Given the description of an element on the screen output the (x, y) to click on. 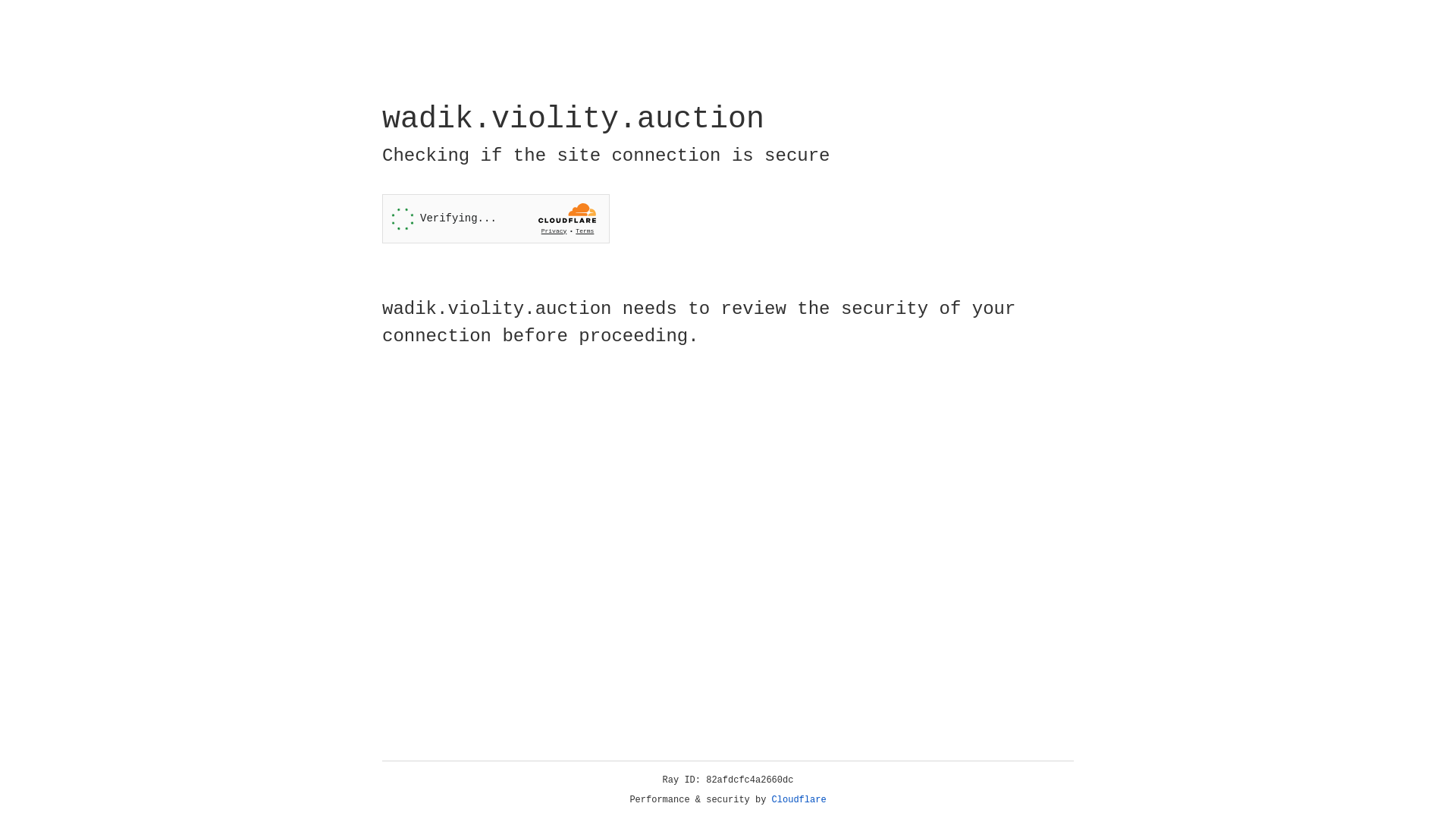
Cloudflare Element type: text (798, 799)
Widget containing a Cloudflare security challenge Element type: hover (495, 218)
